Given the description of an element on the screen output the (x, y) to click on. 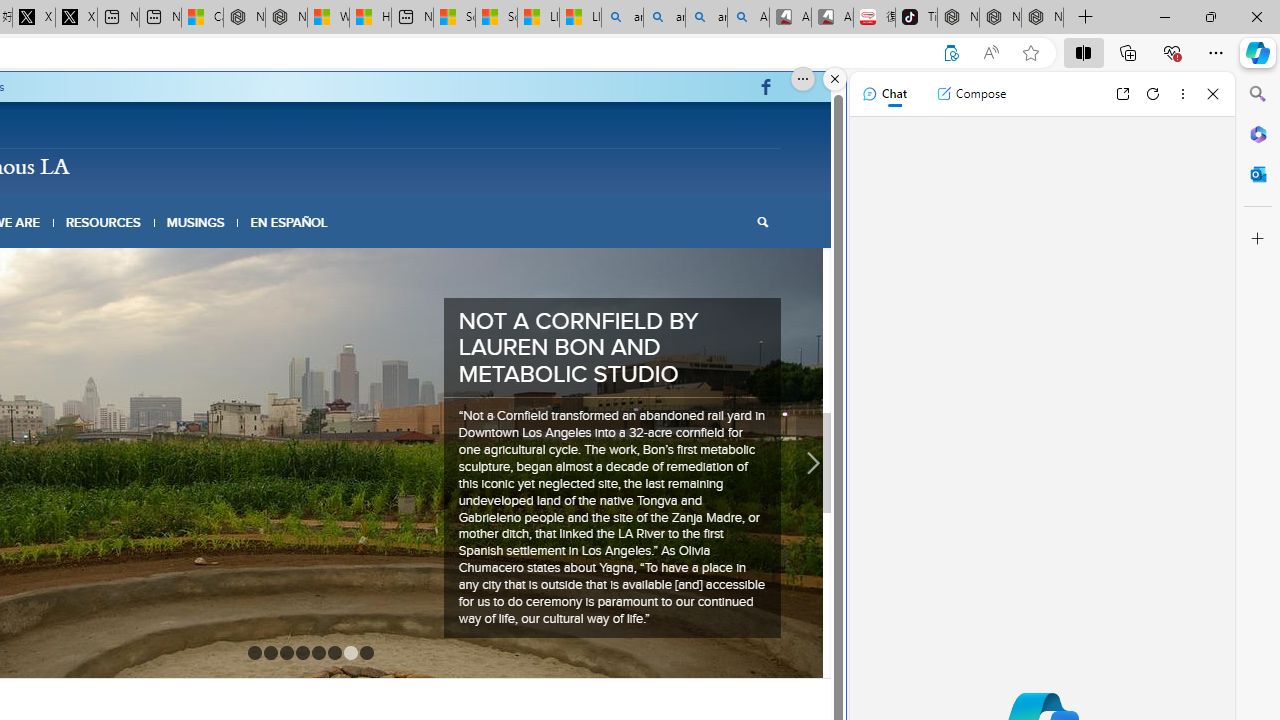
RESOURCES (102, 222)
More options. (803, 79)
8 (365, 564)
7 (350, 564)
Nordace - Best Sellers (958, 17)
Amazon Echo Robot - Search Images (748, 17)
TikTok (916, 17)
